Given the description of an element on the screen output the (x, y) to click on. 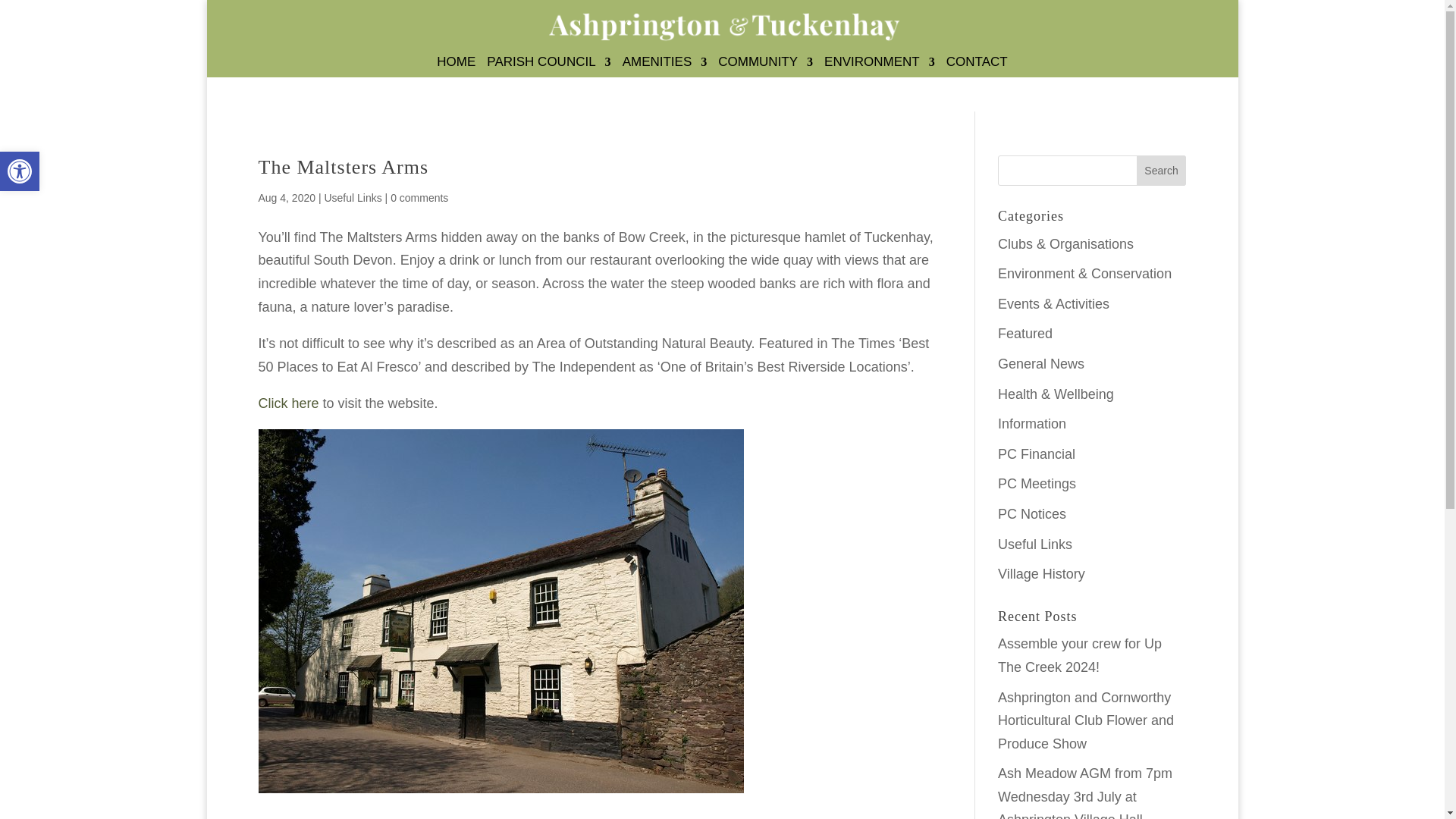
Search (1161, 170)
ENVIRONMENT (879, 66)
HOME (456, 66)
CONTACT (976, 66)
PARISH COUNCIL (548, 66)
AMENITIES (665, 66)
Accessibility Tools (19, 170)
Accessibility Tools (19, 170)
COMMUNITY (764, 66)
